Given the description of an element on the screen output the (x, y) to click on. 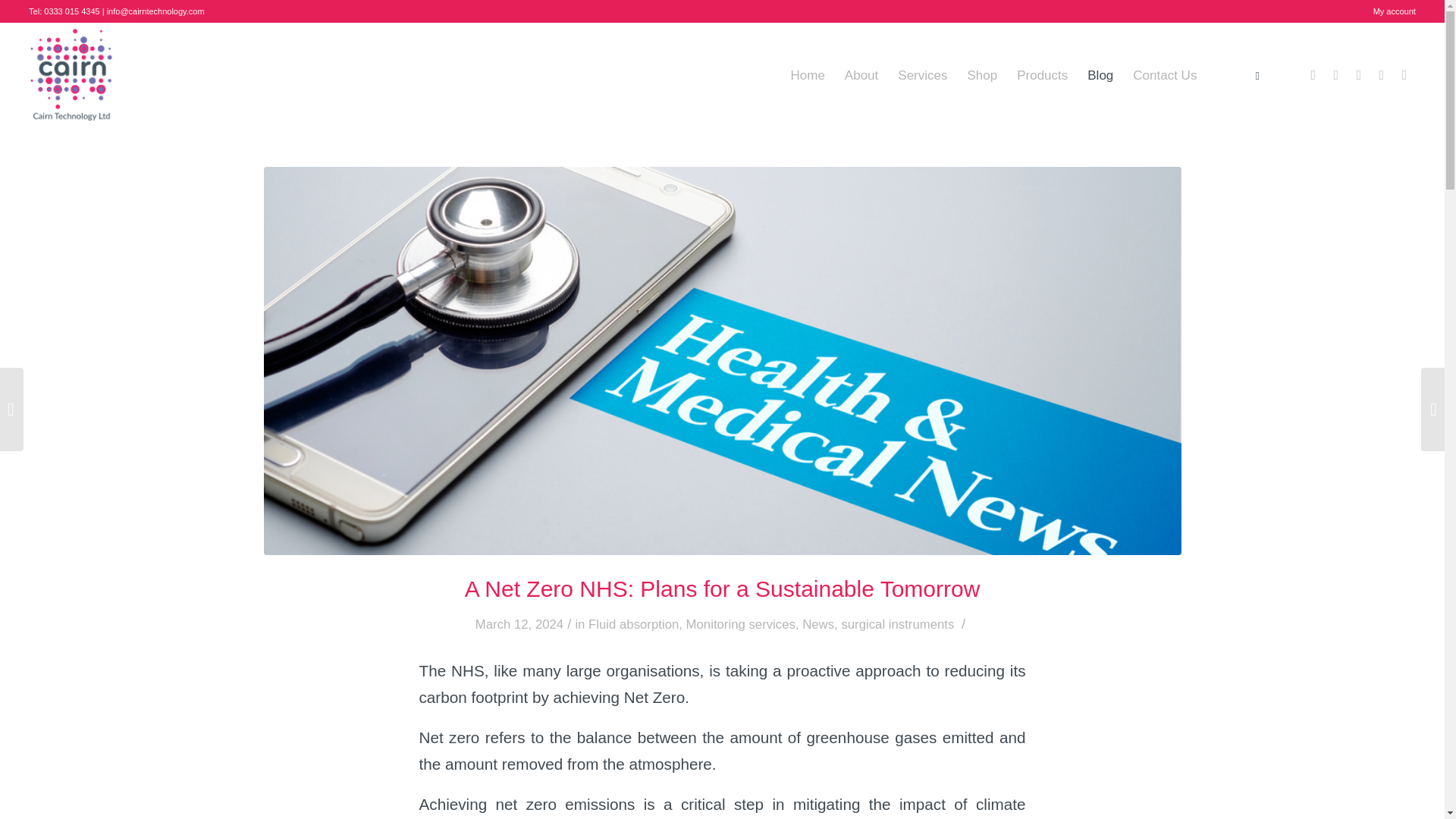
My account (1394, 11)
Twitter (1336, 74)
Youtube (1404, 74)
Instagram (1381, 74)
Facebook (1312, 74)
LinkedIn (1359, 74)
